Given the description of an element on the screen output the (x, y) to click on. 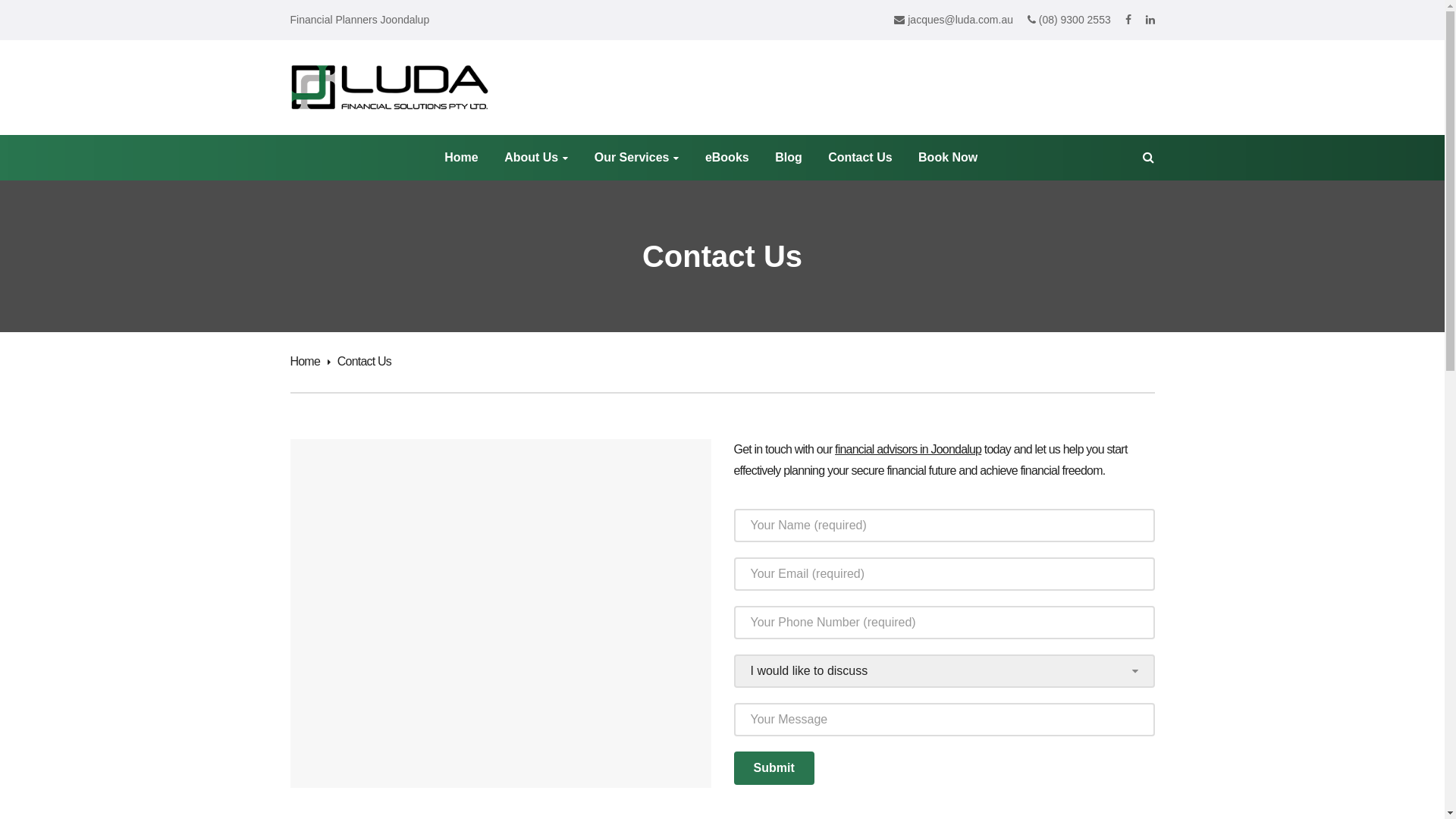
Contact Us Element type: text (859, 157)
eBooks Element type: text (727, 157)
Blog Element type: text (788, 157)
Home Element type: text (460, 157)
Book Now Element type: text (947, 157)
Submit Element type: text (774, 767)
jacques@luda.com.au Element type: text (953, 19)
About Us Element type: text (535, 157)
Our Services Element type: text (636, 157)
(08) 9300 2553 Element type: text (1068, 19)
Search Element type: text (174, 16)
financial advisors in Joondalup Element type: text (907, 448)
Home Element type: text (309, 360)
